Given the description of an element on the screen output the (x, y) to click on. 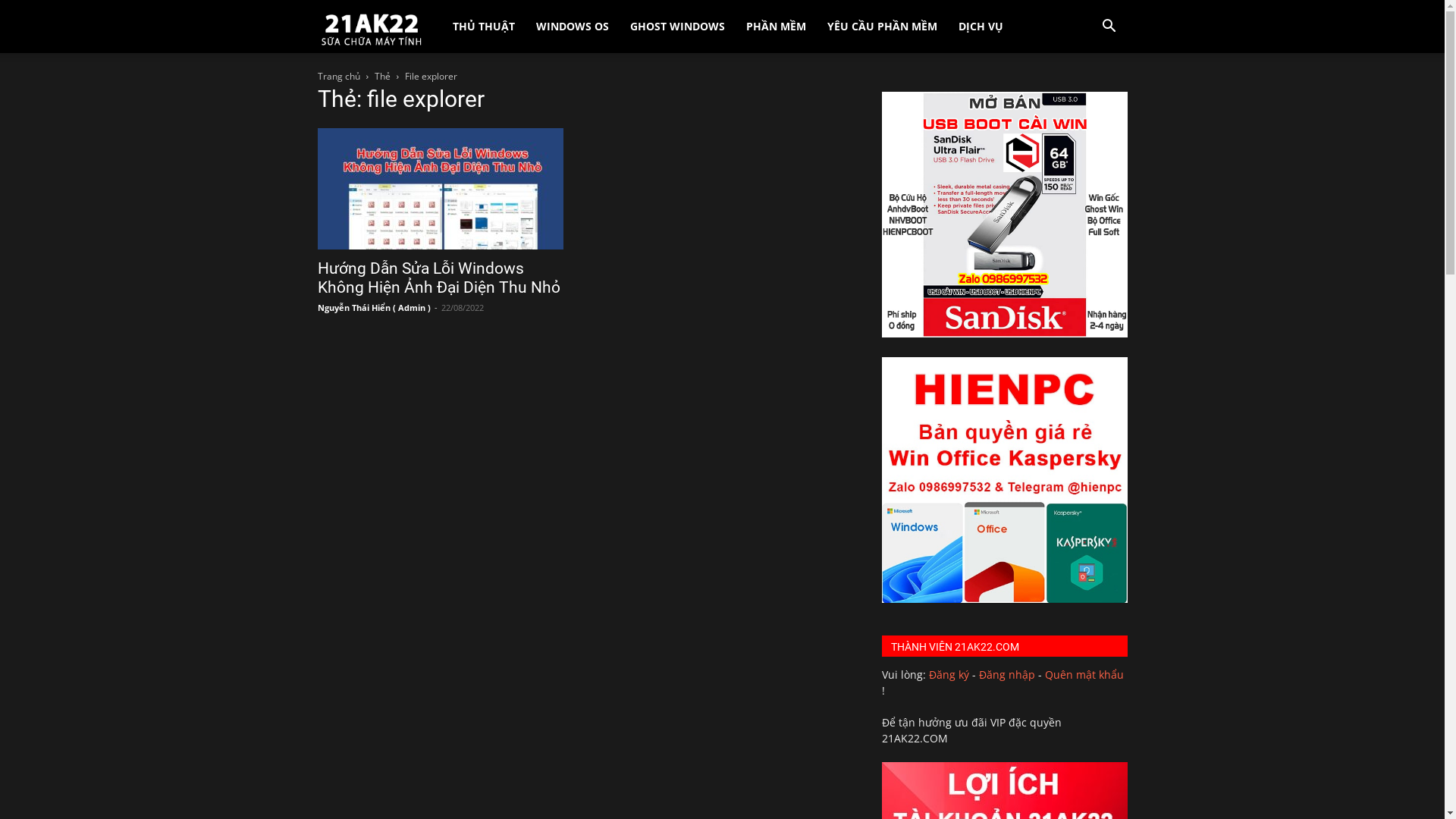
GHOST WINDOWS Element type: text (677, 26)
WINDOWS OS Element type: text (572, 26)
USB BOOT Element type: hover (1003, 333)
HIENPC Element type: hover (1003, 598)
21AK22.COM Element type: hover (370, 26)
21AK22.COM Element type: text (378, 25)
